Given the description of an element on the screen output the (x, y) to click on. 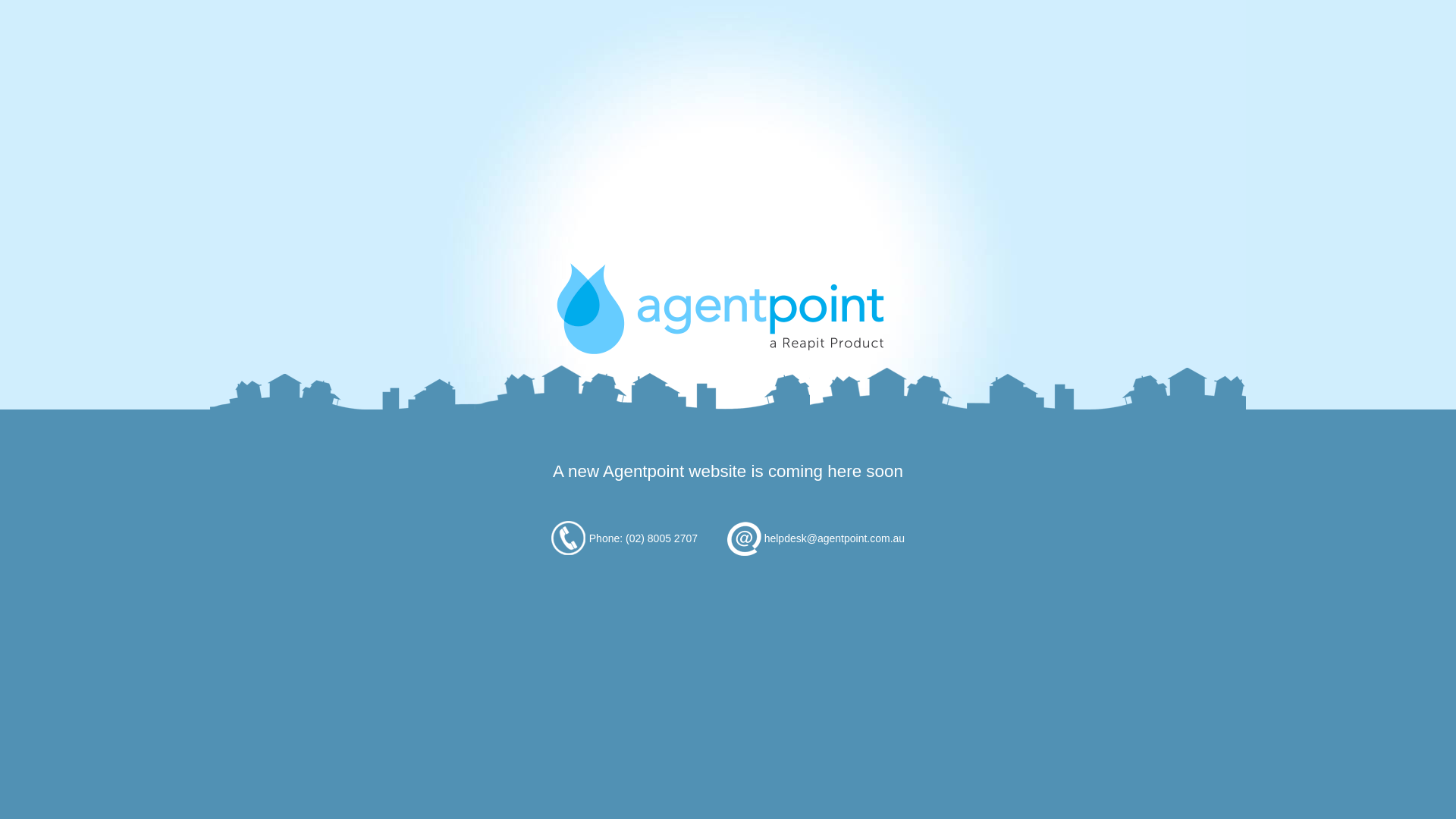
helpdesk@agentpoint.com.au Element type: text (834, 538)
